Given the description of an element on the screen output the (x, y) to click on. 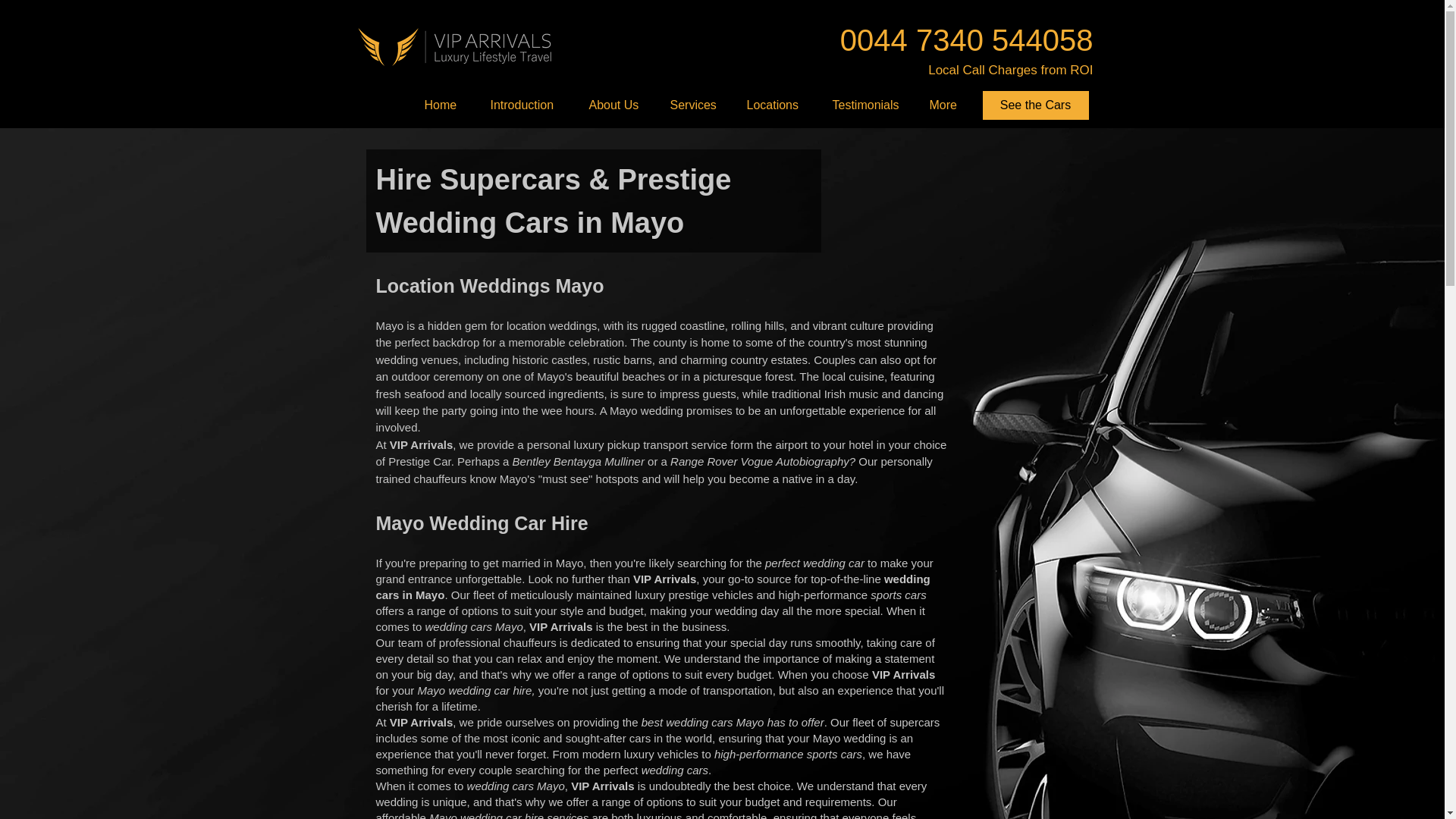
Locations (778, 105)
Home (445, 105)
About Us (618, 105)
See the Cars (1035, 105)
Services (696, 105)
Testimonials (869, 105)
Introduction (528, 105)
